Given the description of an element on the screen output the (x, y) to click on. 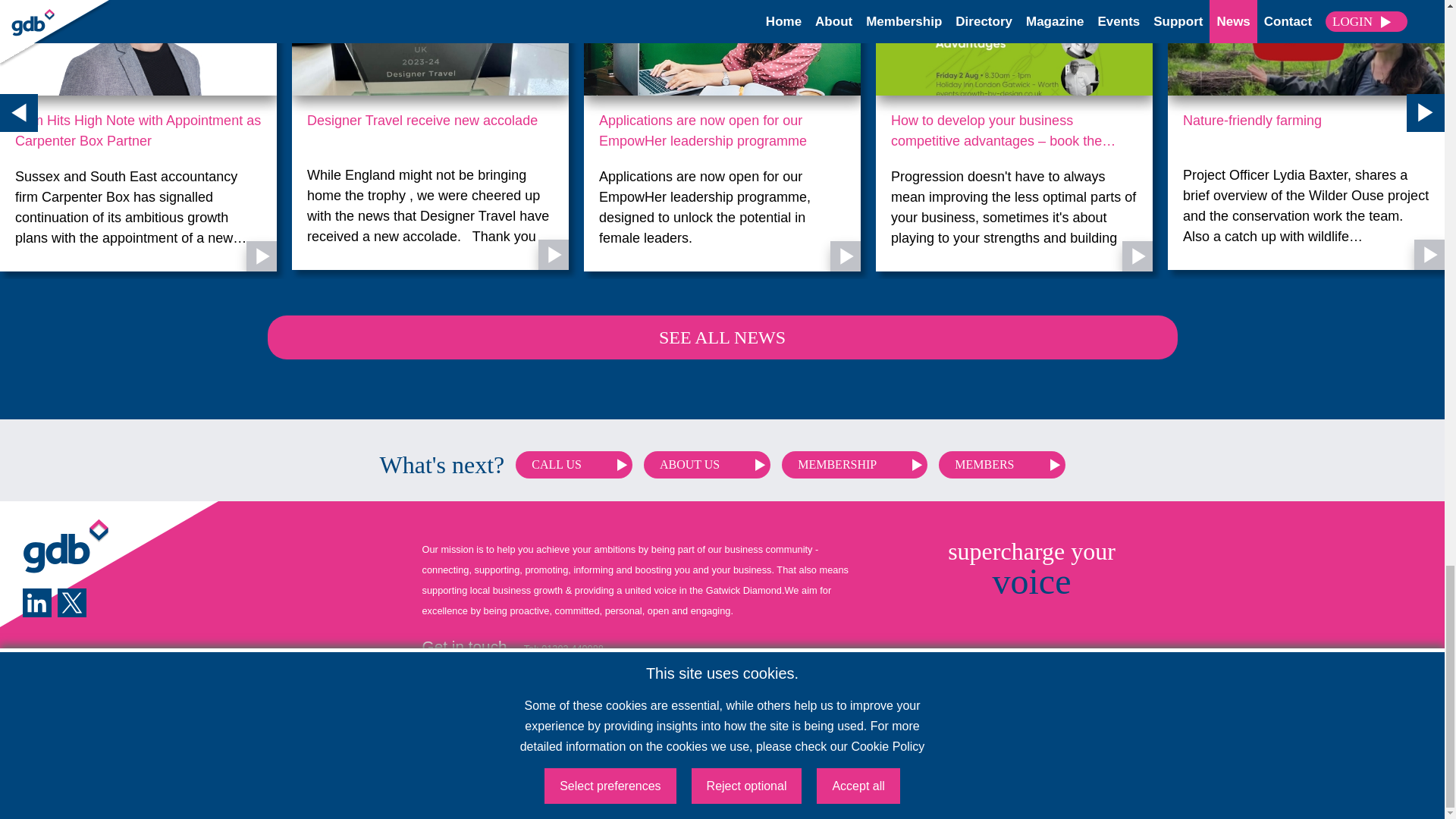
Sam Hits High Note with Appointment as Carpenter Box Partner (138, 130)
Nature-friendly farming (1305, 129)
Designer Travel receive new accolade (430, 129)
